Given the description of an element on the screen output the (x, y) to click on. 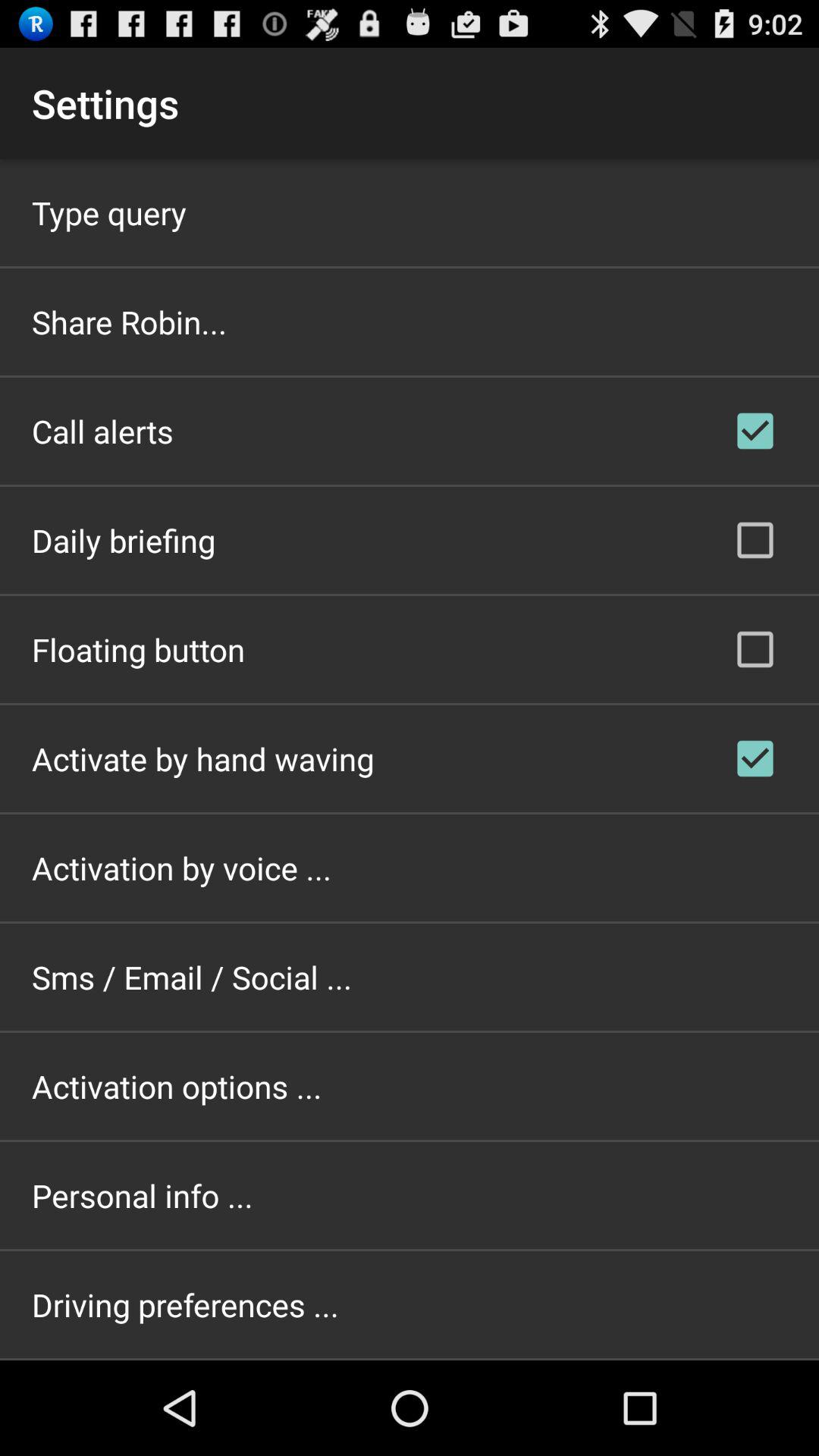
tap the icon below the type query item (128, 321)
